Given the description of an element on the screen output the (x, y) to click on. 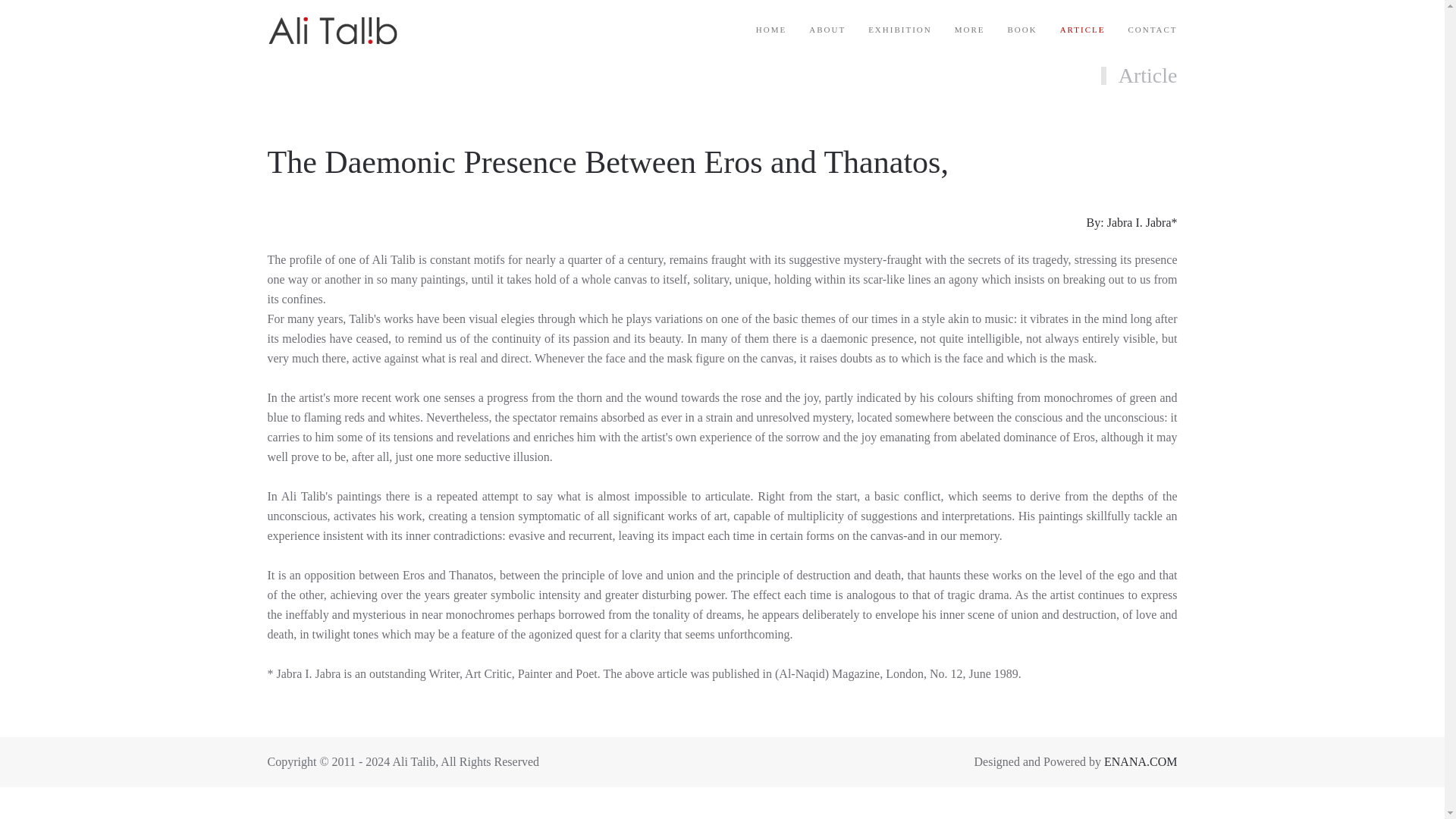
EXHIBITION (899, 30)
ENANA for information technology website (1139, 761)
ENANA.COM (1139, 761)
